Given the description of an element on the screen output the (x, y) to click on. 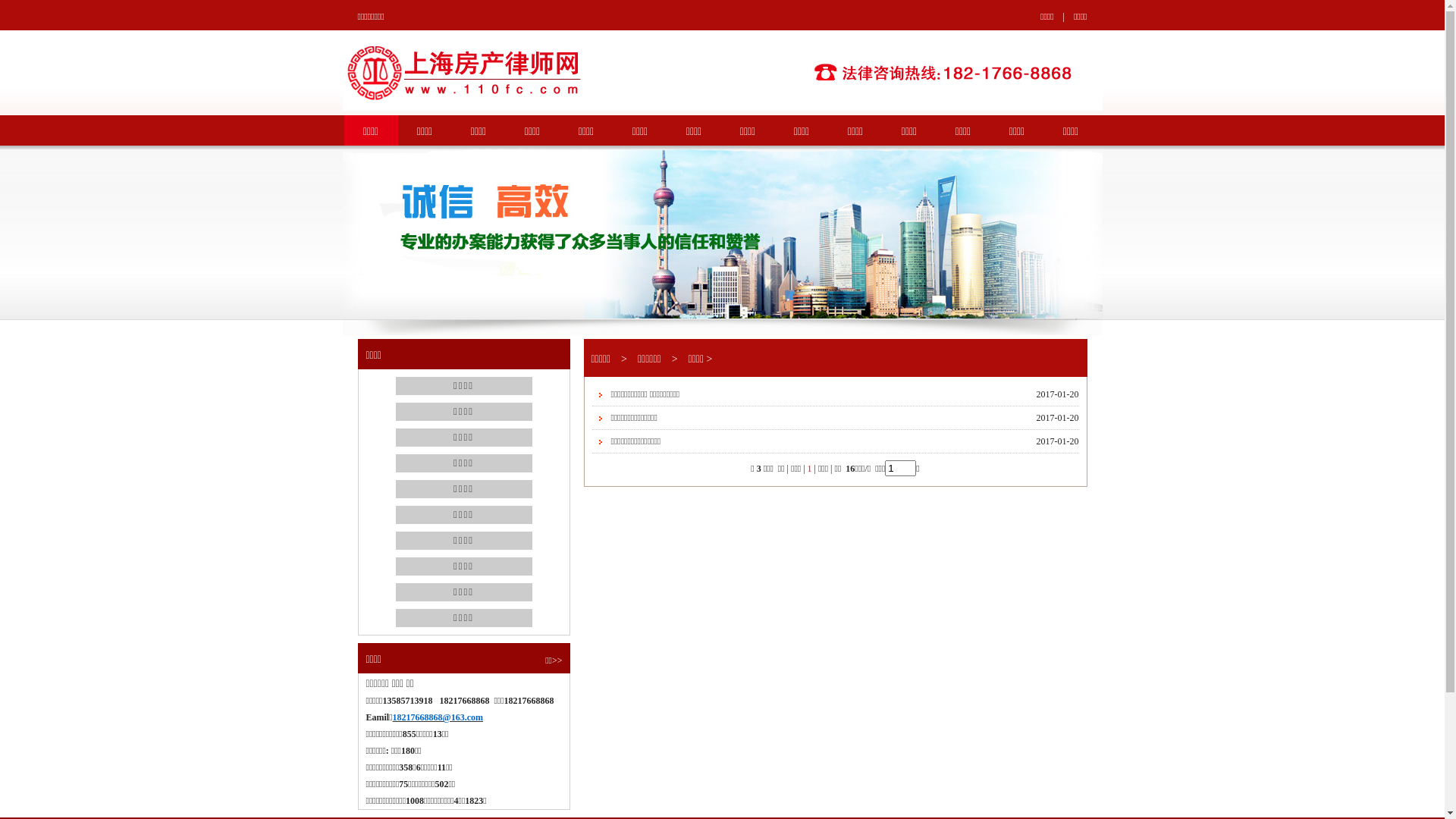
18217668868@163.com Element type: text (437, 717)
